Given the description of an element on the screen output the (x, y) to click on. 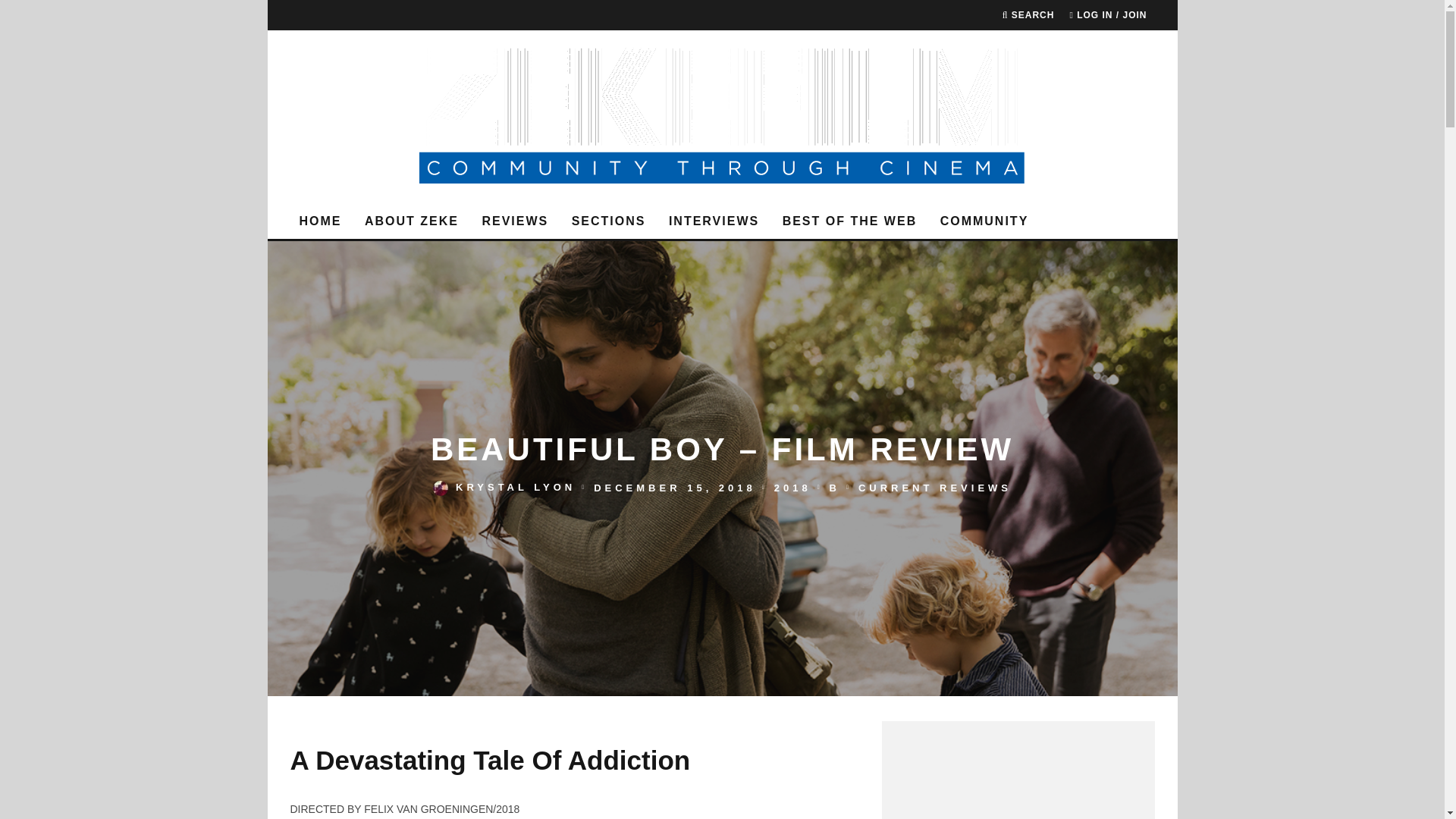
View all posts in 2018 (792, 487)
Log In (721, 439)
Search (1028, 15)
ABOUT ZEKE (411, 221)
View all posts in Current Reviews (935, 487)
HOME (319, 221)
SEARCH (1028, 15)
View all posts in B (834, 487)
Posts by Krystal Lyon (515, 487)
